Given the description of an element on the screen output the (x, y) to click on. 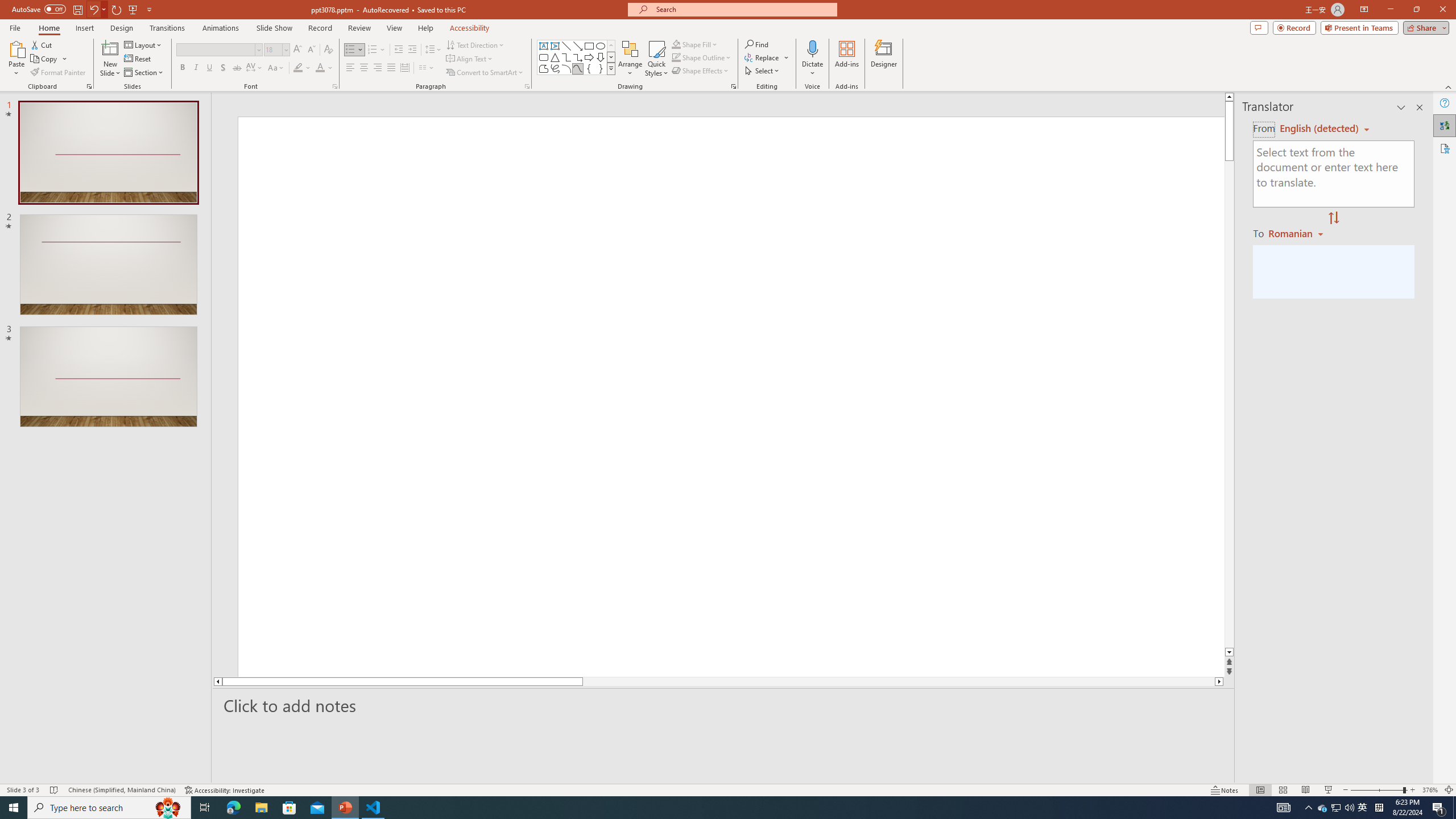
Shape Outline Green, Accent 1 (675, 56)
